Given the description of an element on the screen output the (x, y) to click on. 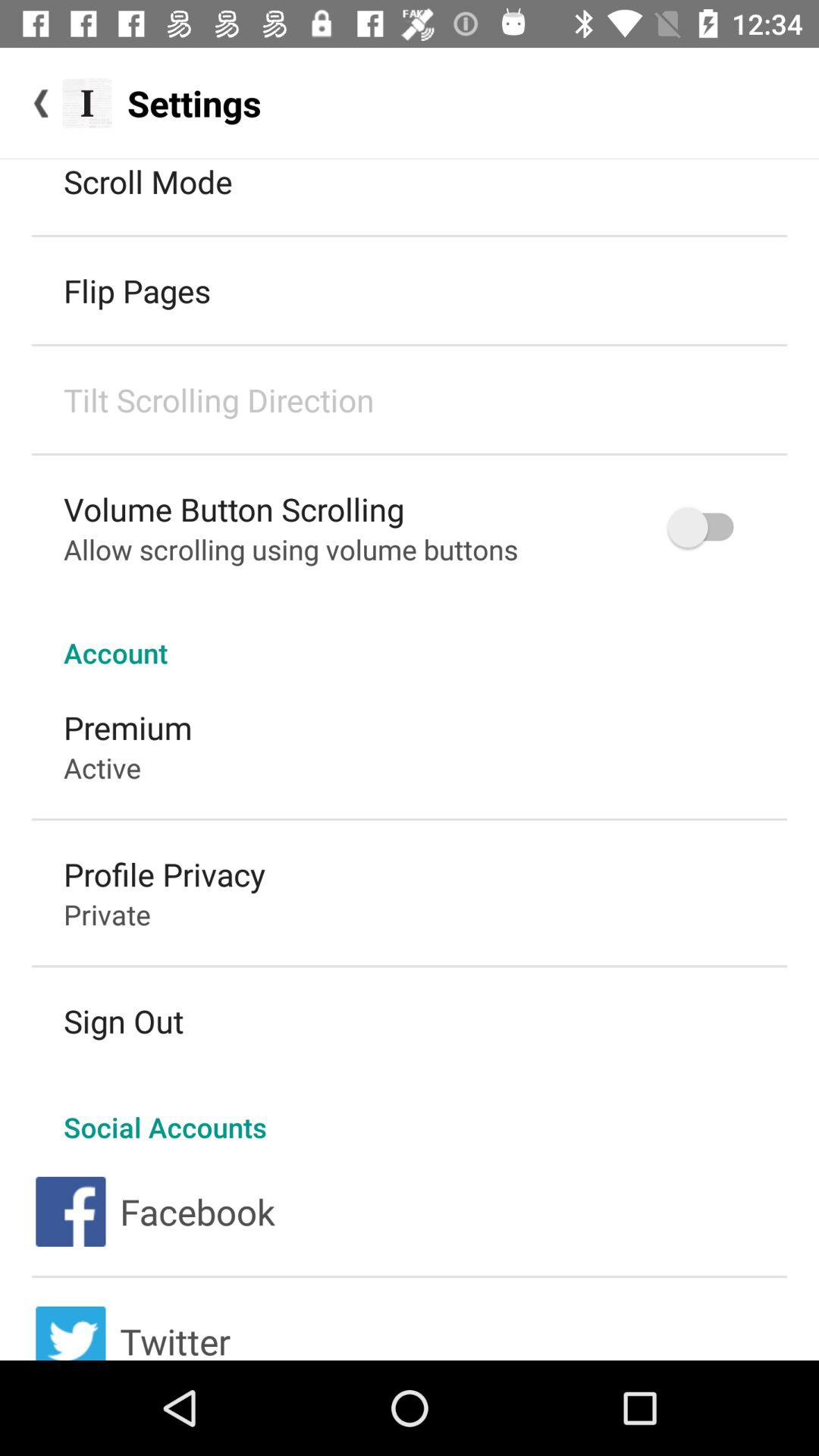
turn on icon above the premium item (409, 636)
